Given the description of an element on the screen output the (x, y) to click on. 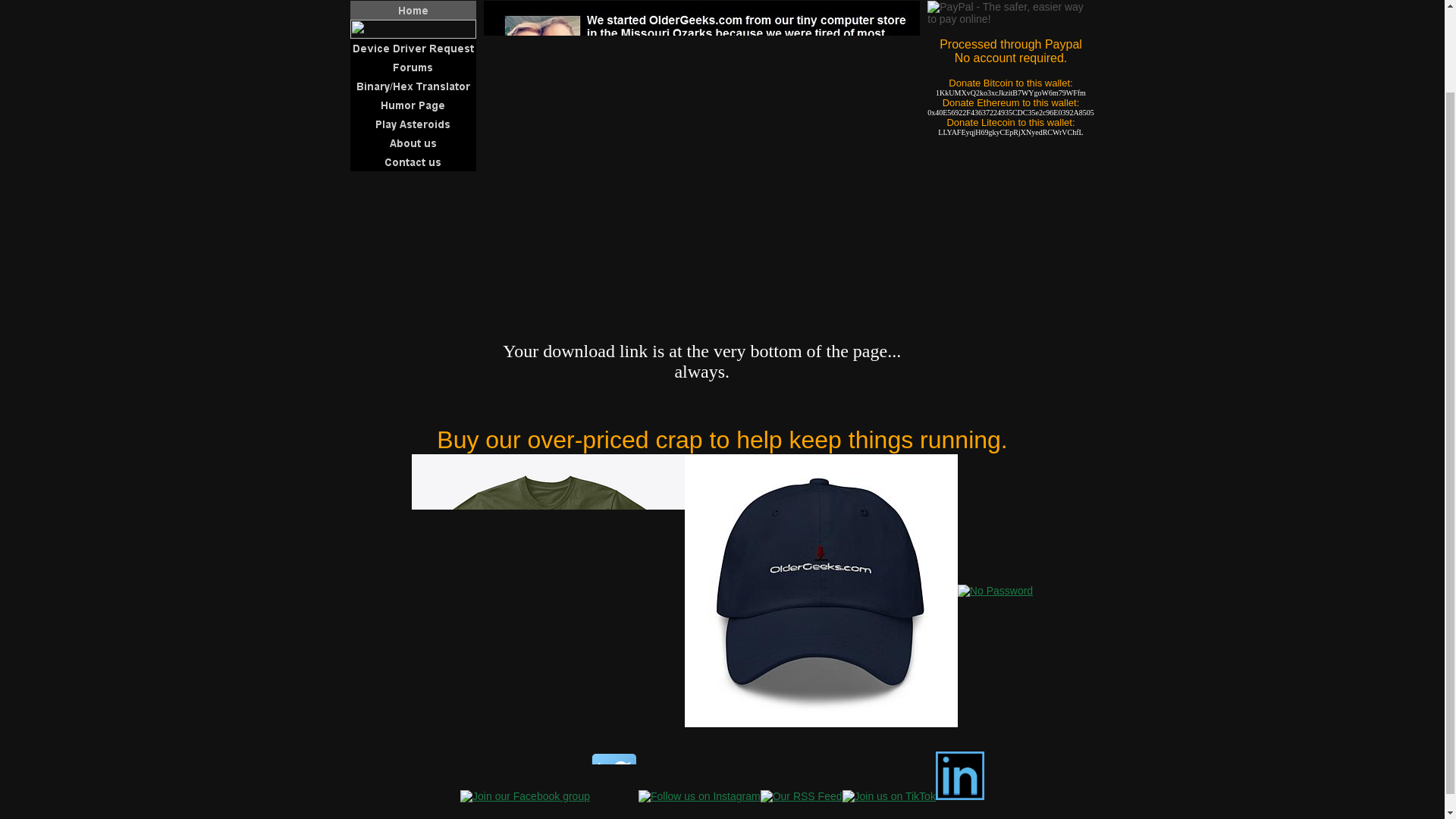
Join us on TikTok (889, 796)
Join our Facebook group (524, 796)
Join us on LinkedIn (960, 775)
Follow us in Instagram (699, 796)
Our RSS Feed (801, 796)
Follow us in Twitter (614, 775)
